Given the description of an element on the screen output the (x, y) to click on. 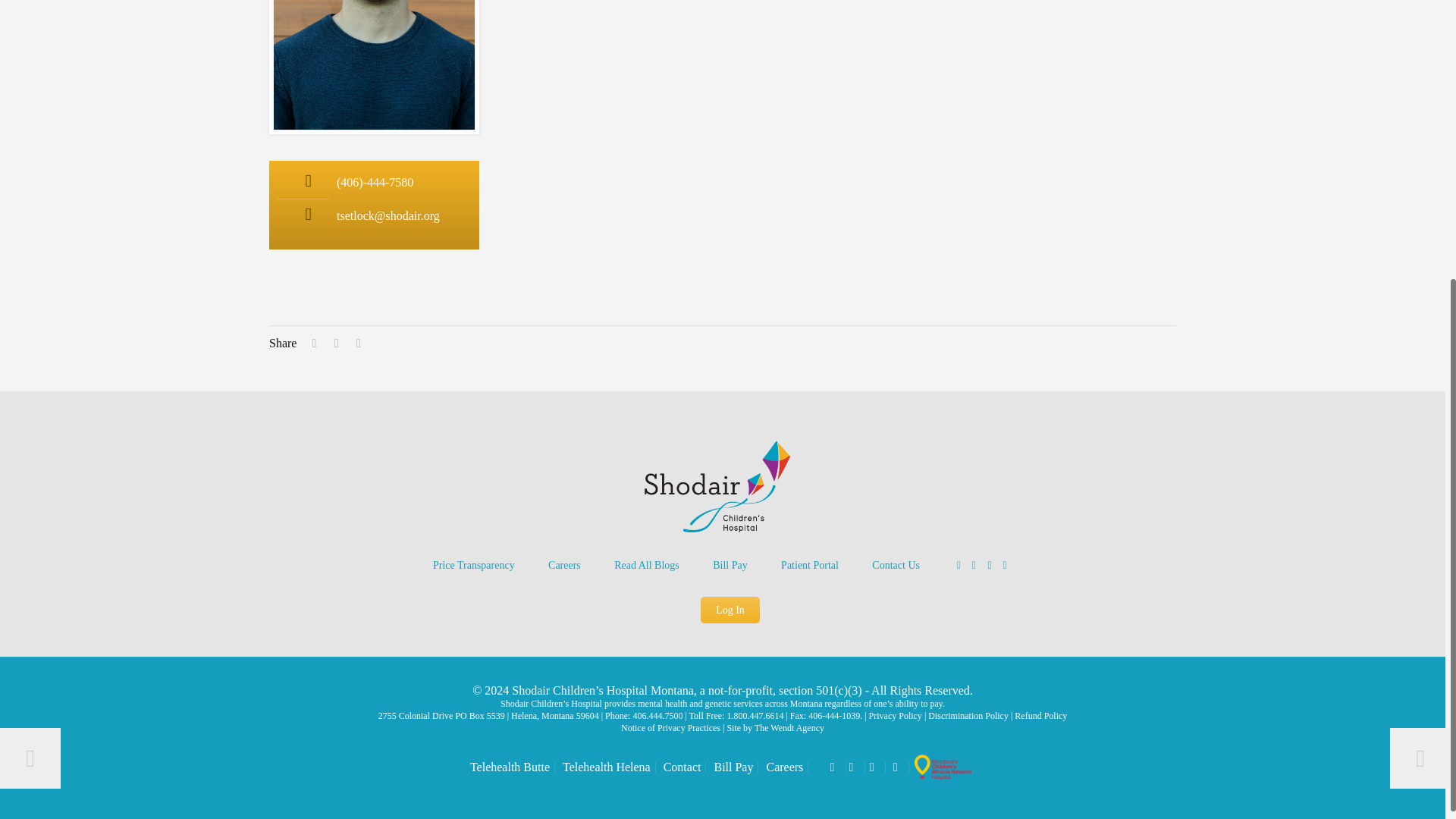
Tyler Setlock (373, 65)
